Given the description of an element on the screen output the (x, y) to click on. 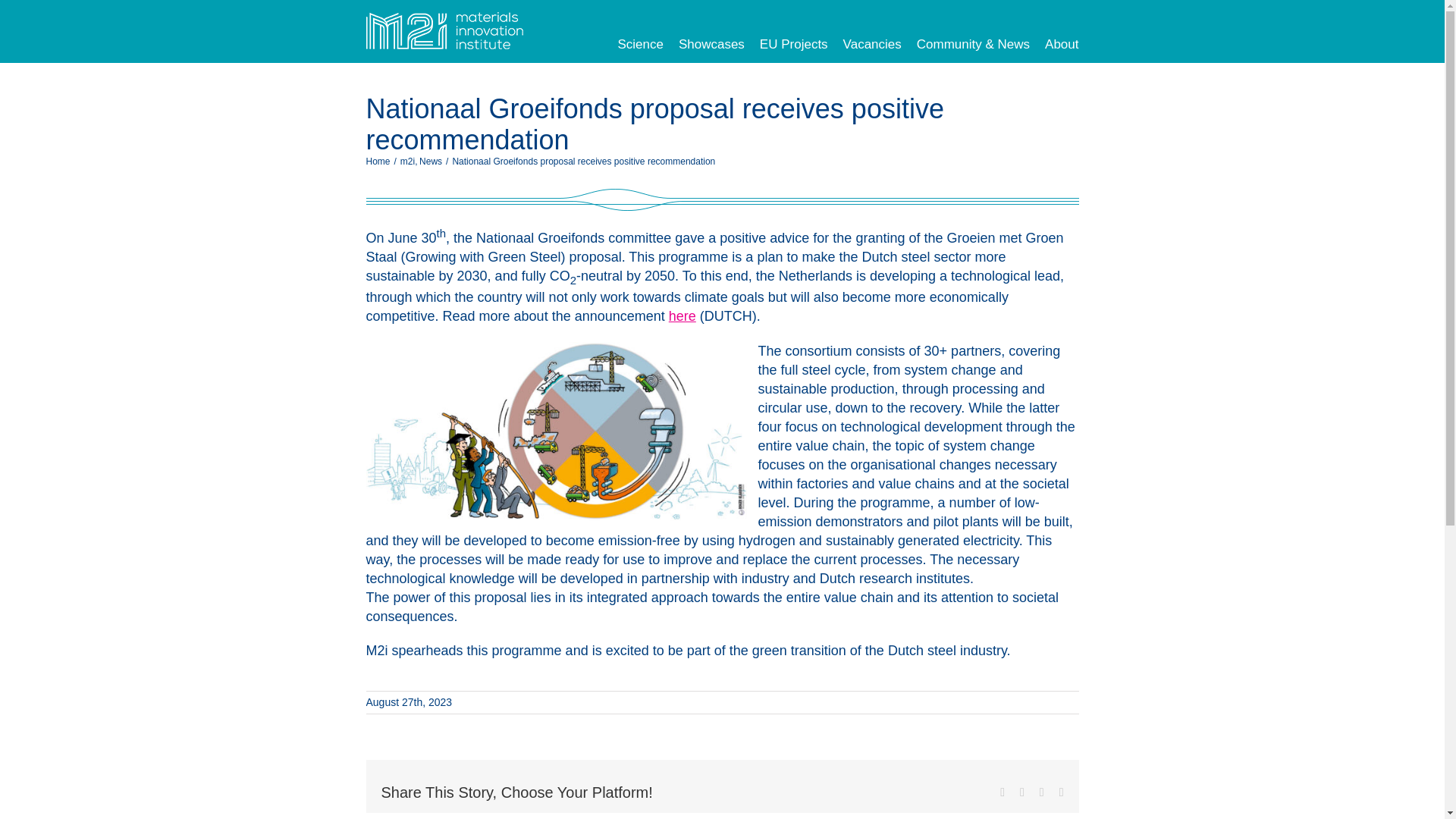
EU Projects (794, 43)
Science (639, 43)
Vacancies (872, 43)
Showcases (711, 43)
